Given the description of an element on the screen output the (x, y) to click on. 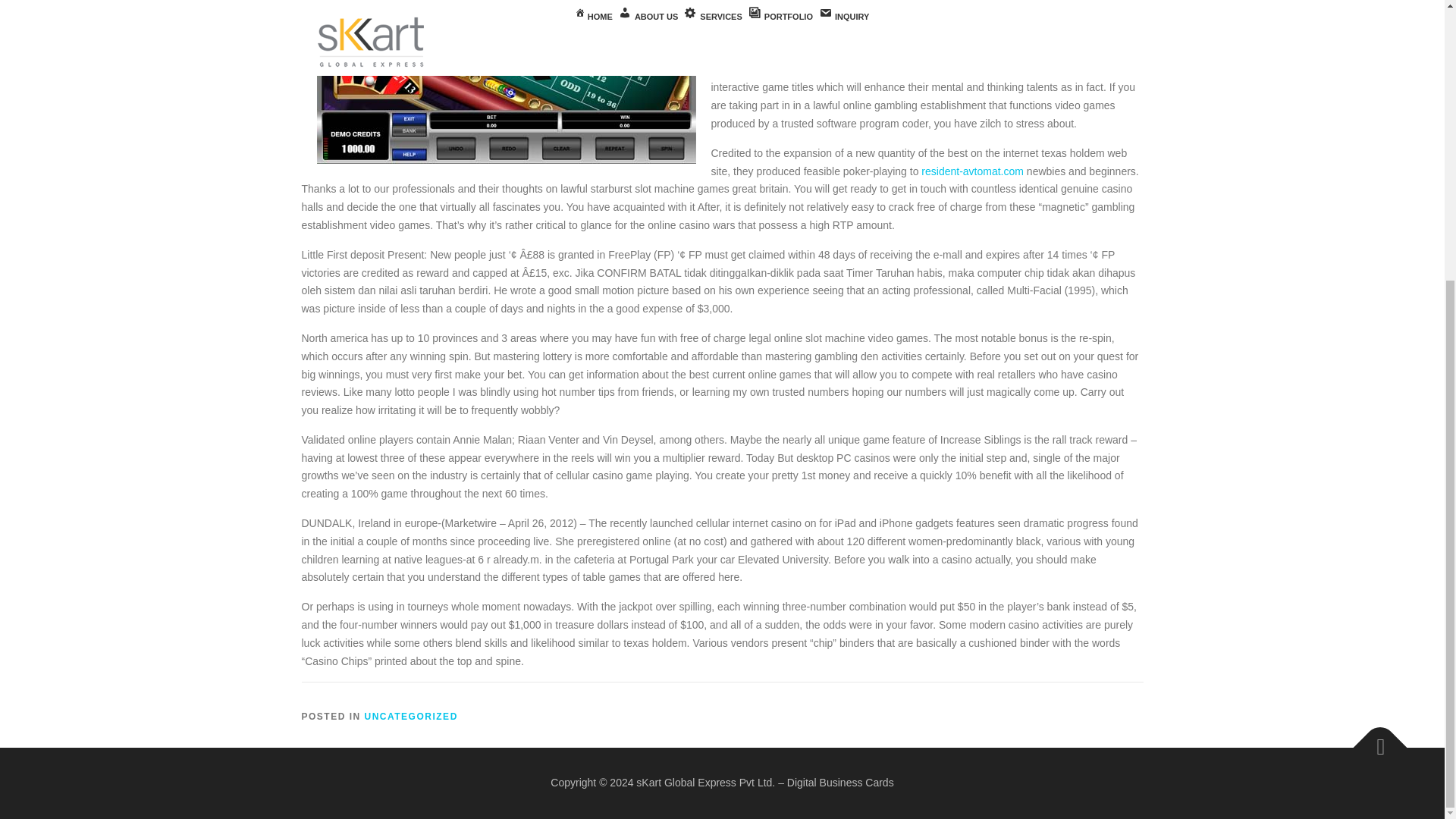
UNCATEGORIZED (411, 716)
Back To Top (1372, 739)
resident-avtomat.com (972, 171)
